Given the description of an element on the screen output the (x, y) to click on. 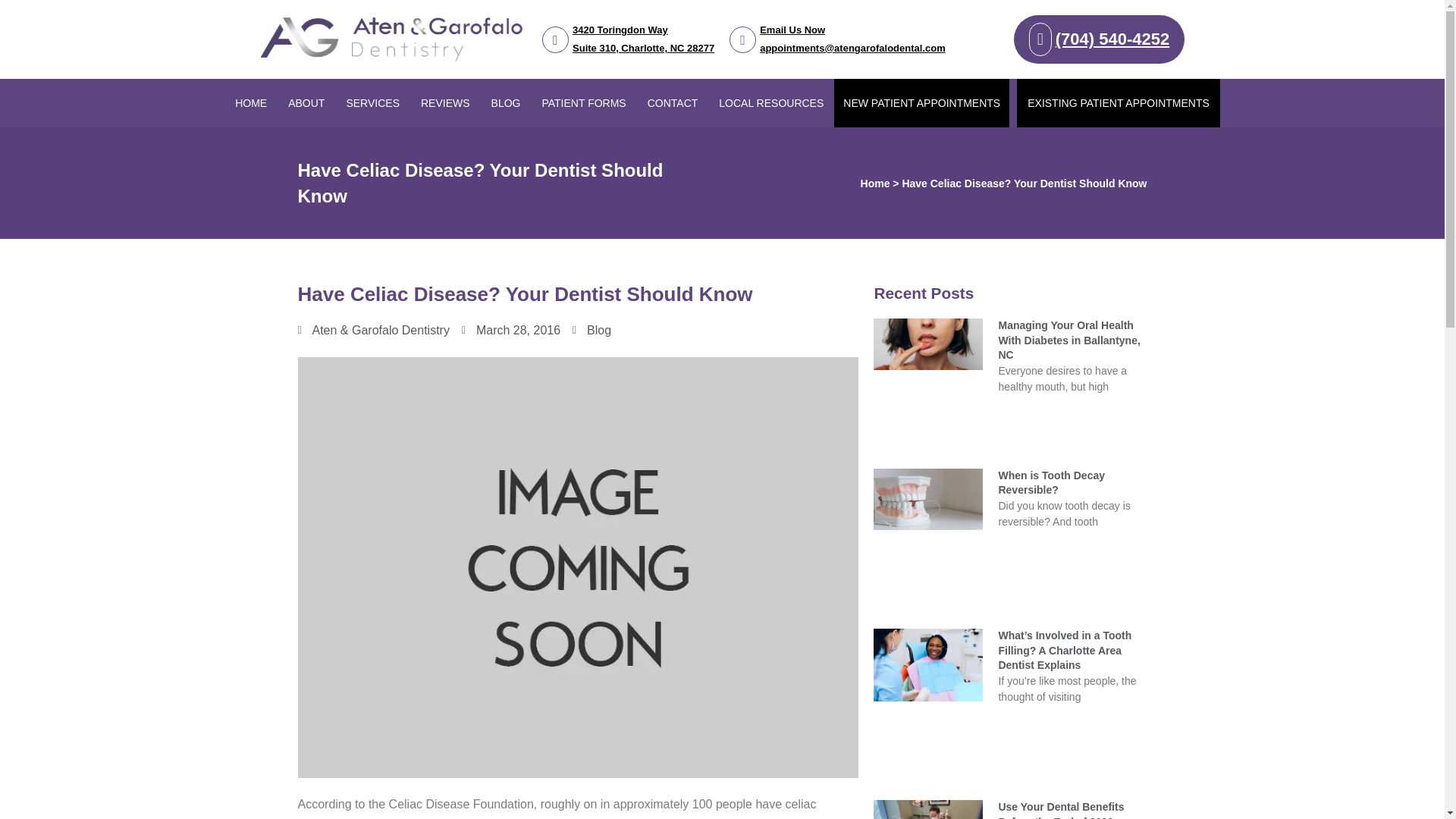
REVIEWS (445, 102)
HOME (251, 102)
ABOUT (627, 39)
PATIENT FORMS (306, 102)
BLOG (583, 102)
SERVICES (505, 102)
